Given the description of an element on the screen output the (x, y) to click on. 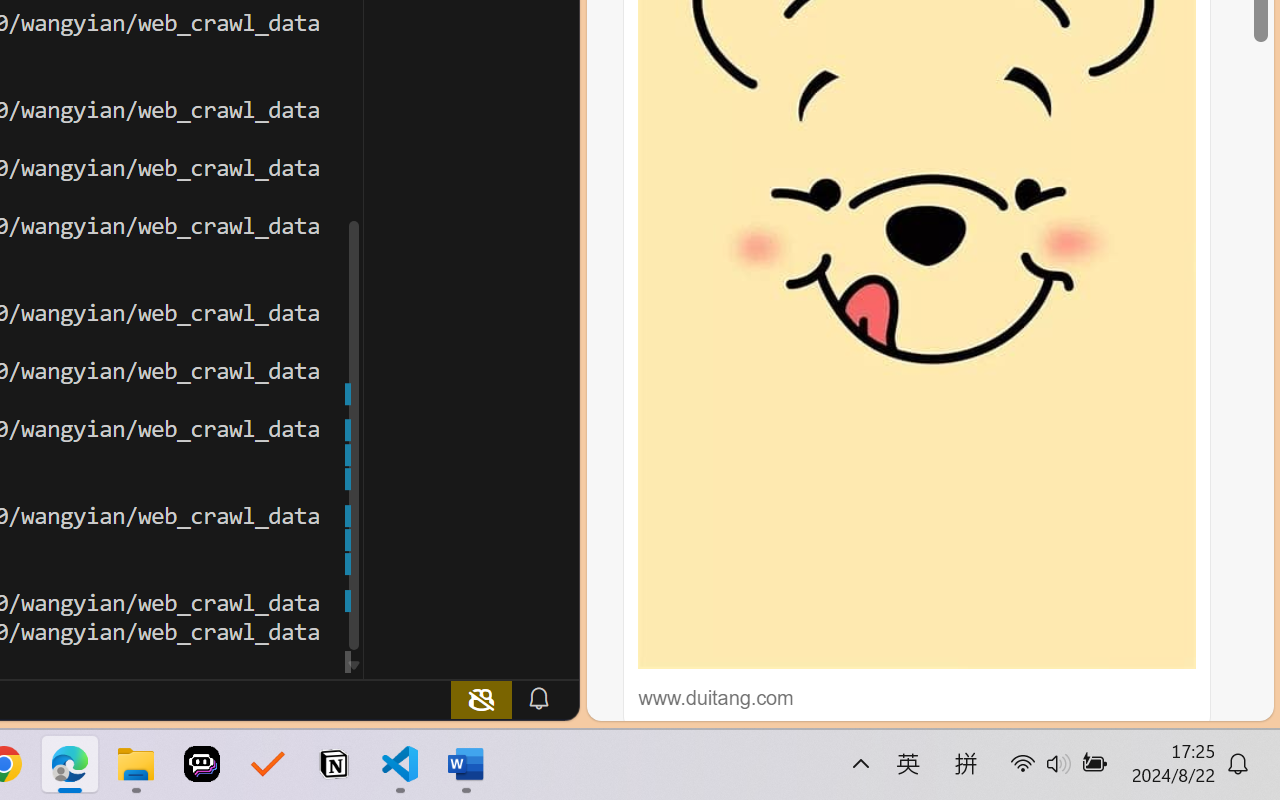
copilot-notconnected, Copilot error (click for details) (481, 698)
Notifications (537, 698)
